Given the description of an element on the screen output the (x, y) to click on. 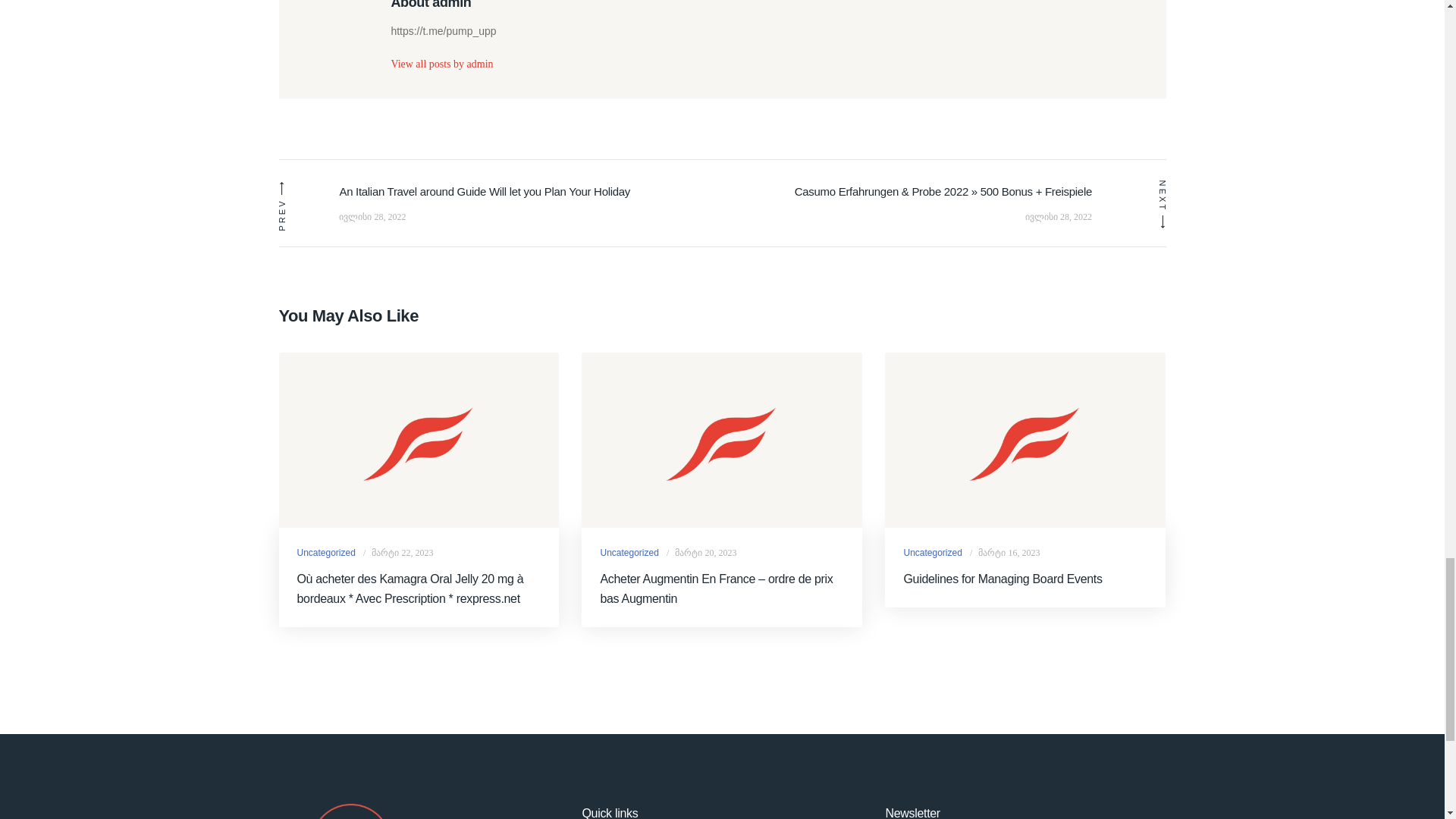
View all posts in Uncategorized (326, 552)
View all posts in Uncategorized (931, 552)
View all posts in Uncategorized (628, 552)
